Given the description of an element on the screen output the (x, y) to click on. 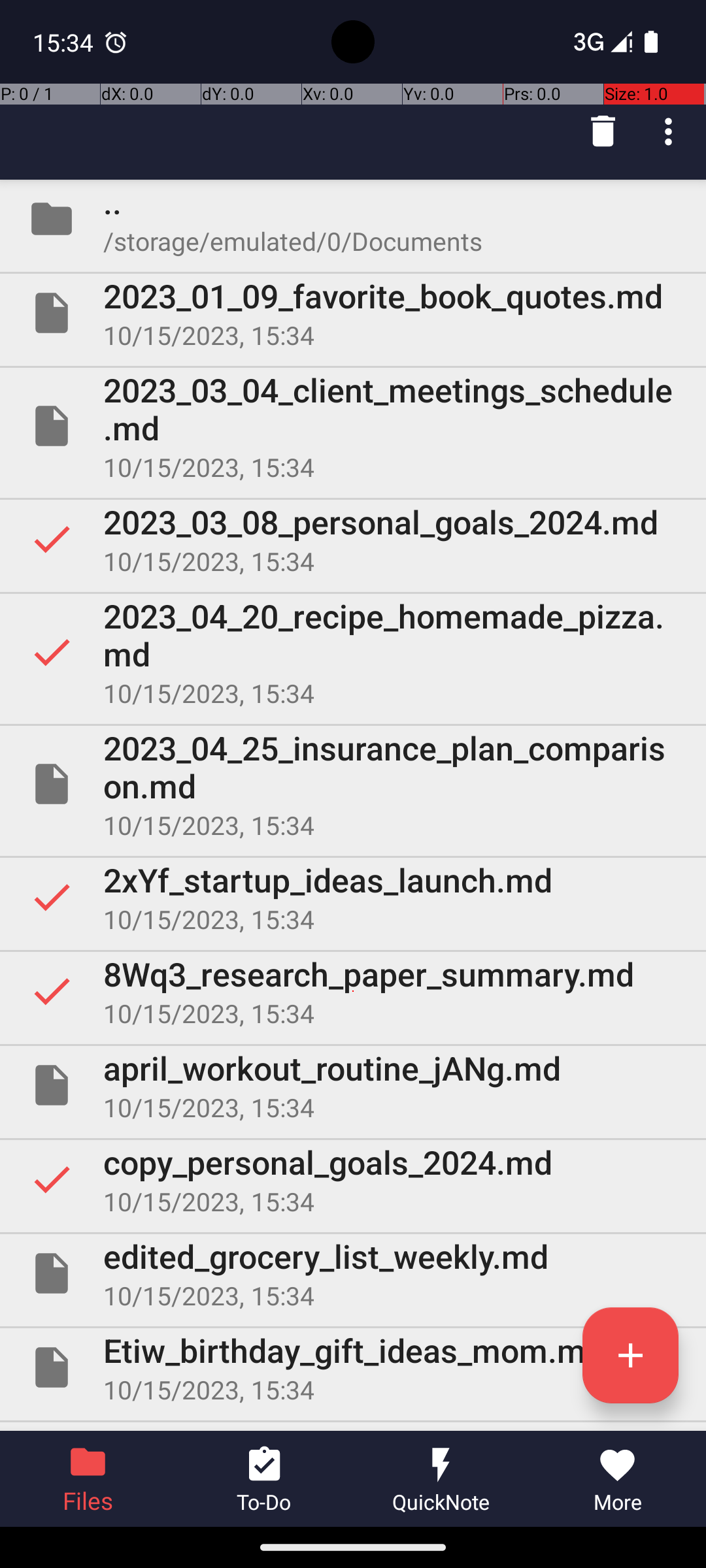
File 2023_01_09_favorite_book_quotes.md  Element type: android.widget.LinearLayout (353, 312)
File 2023_03_04_client_meetings_schedule.md  Element type: android.widget.LinearLayout (353, 425)
Selected 2023_03_08_personal_goals_2024.md  Element type: android.widget.LinearLayout (353, 538)
Selected 2023_04_20_recipe_homemade_pizza.md 10/15/2023, 15:34 Element type: android.widget.LinearLayout (353, 651)
File 2023_04_25_insurance_plan_comparison.md  Element type: android.widget.LinearLayout (353, 783)
Selected 2xYf_startup_ideas_launch.md 10/15/2023, 15:34 Element type: android.widget.LinearLayout (353, 896)
Selected 8Wq3_research_paper_summary.md 10/15/2023, 15:34 Element type: android.widget.LinearLayout (353, 990)
File april_workout_routine_jANg.md  Element type: android.widget.LinearLayout (353, 1084)
Selected copy_personal_goals_2024.md 10/15/2023, 15:34 Element type: android.widget.LinearLayout (353, 1179)
File edited_grocery_list_weekly.md  Element type: android.widget.LinearLayout (353, 1273)
File Etiw_birthday_gift_ideas_mom.md  Element type: android.widget.LinearLayout (353, 1367)
File J7k3_research_paper_summary.md  Element type: android.widget.LinearLayout (353, 1426)
